Given the description of an element on the screen output the (x, y) to click on. 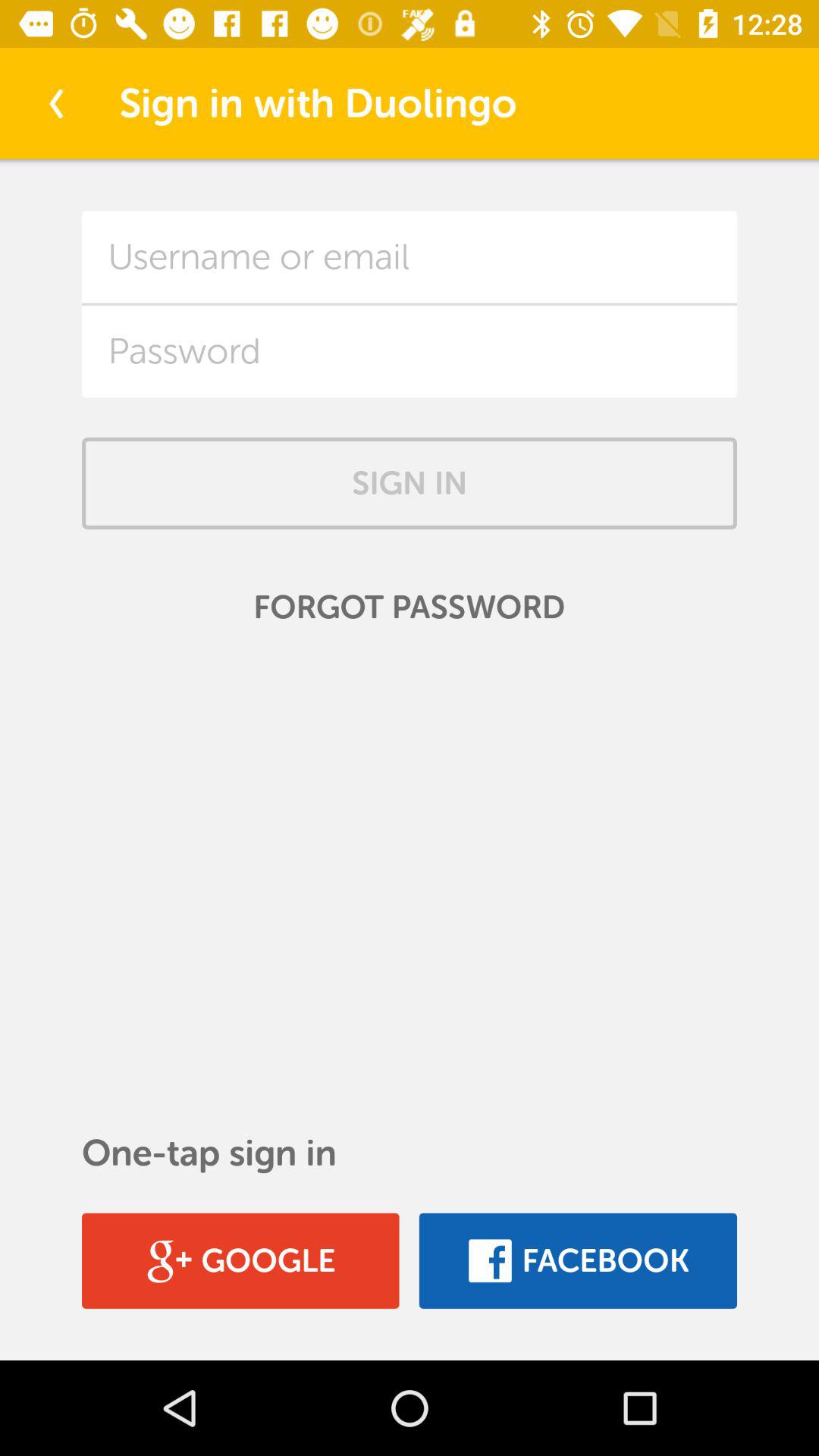
press the app next to sign in with app (55, 103)
